Given the description of an element on the screen output the (x, y) to click on. 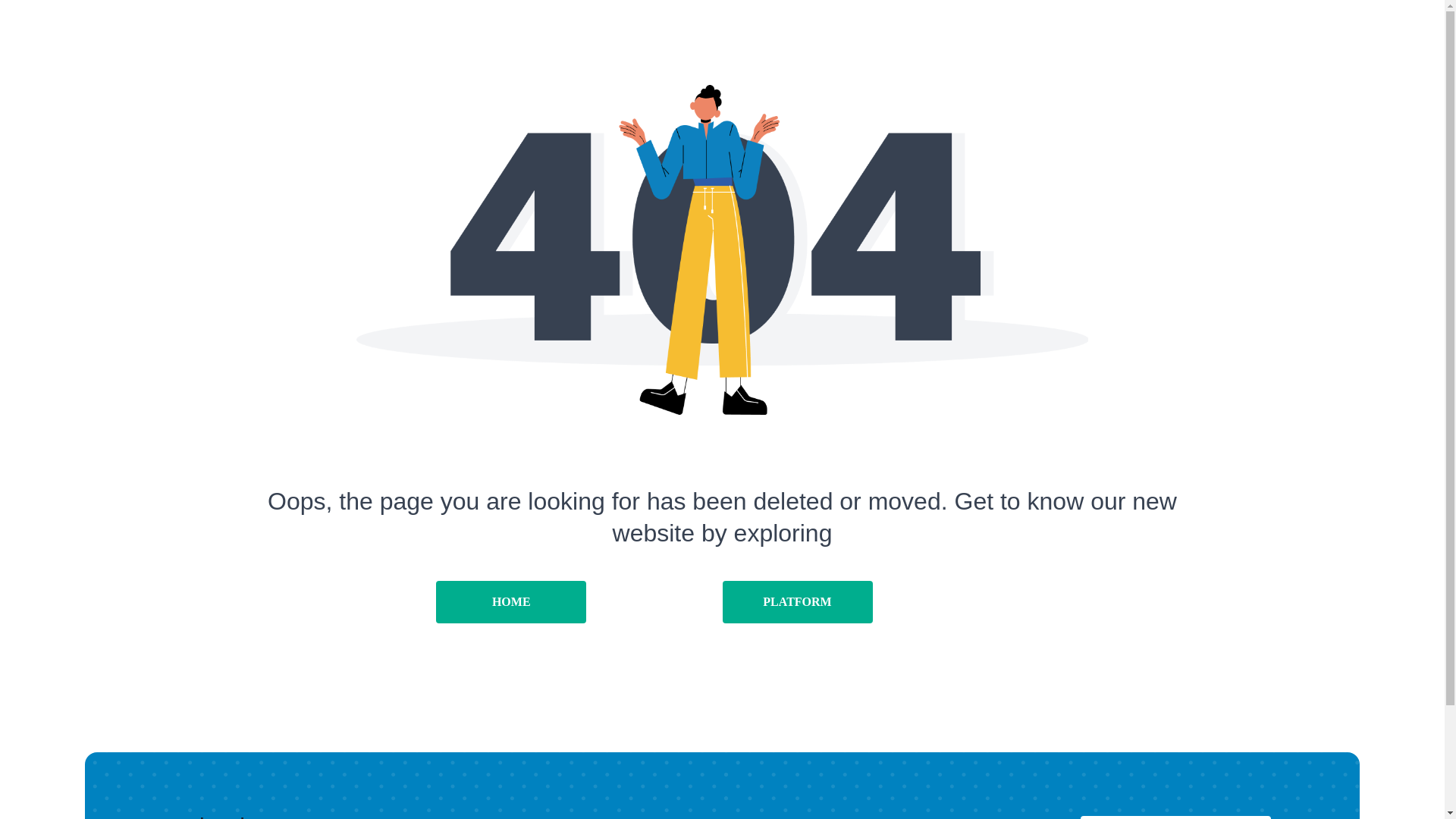
CONTACT US (1175, 817)
PLATFORM (797, 601)
HOME (510, 601)
